Given the description of an element on the screen output the (x, y) to click on. 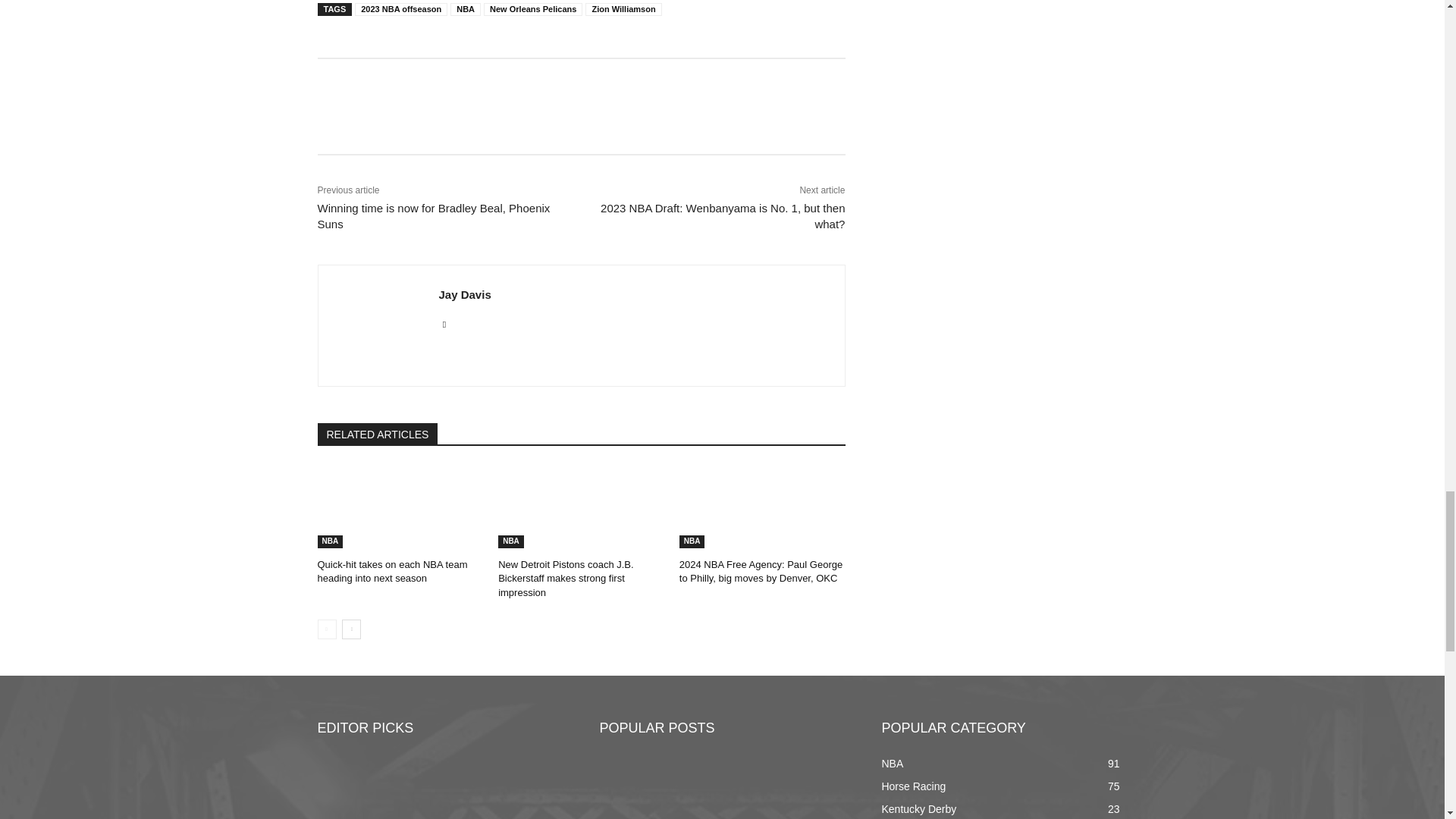
New Orleans Pelicans (532, 9)
Jay Davis (377, 325)
Quick-hit takes on each NBA team heading into next season (400, 506)
Twitter (443, 321)
NBA (464, 9)
2023 NBA offseason (400, 9)
